Given the description of an element on the screen output the (x, y) to click on. 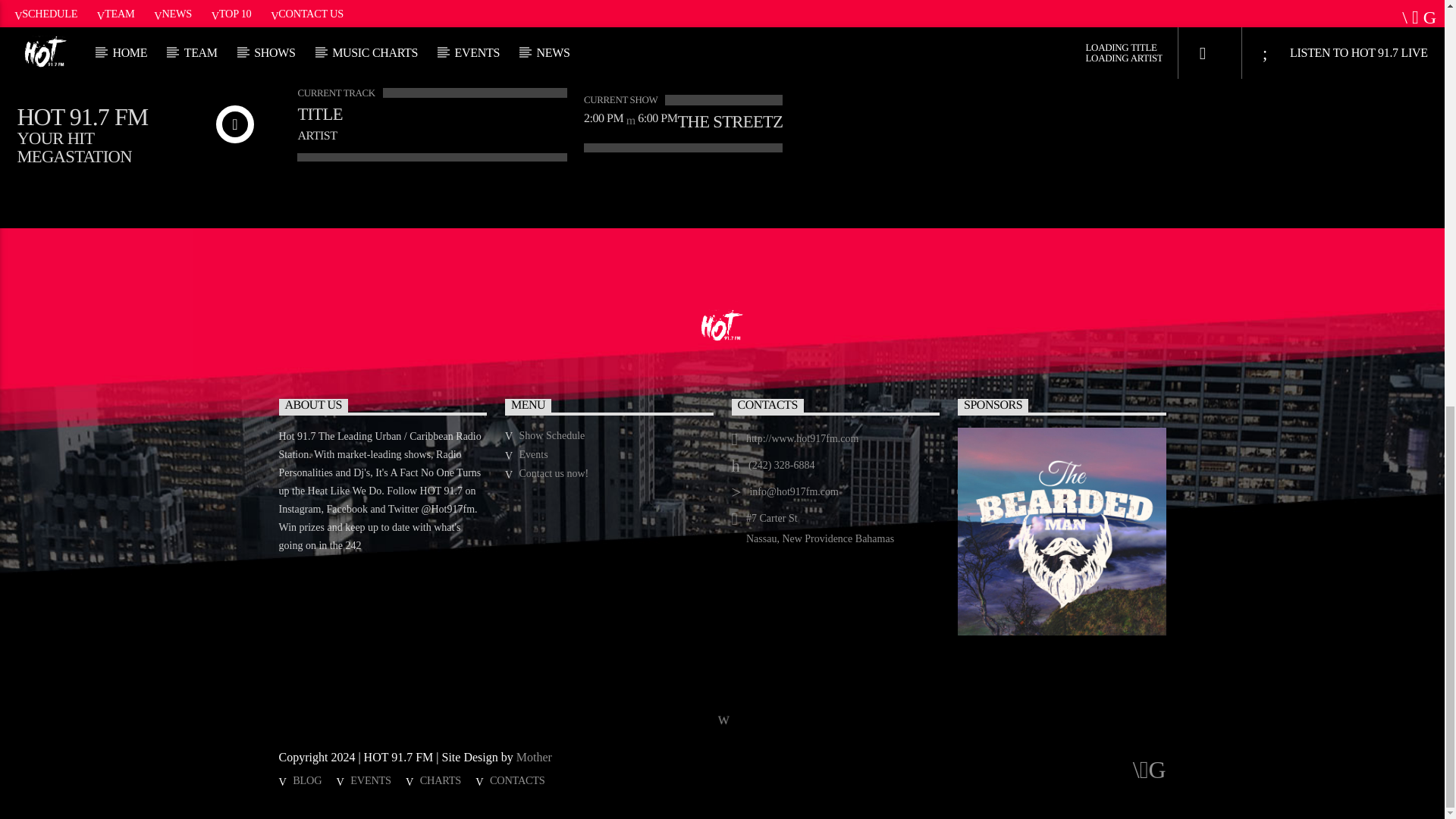
Contact us now! (554, 473)
Events (533, 454)
Show Schedule (552, 435)
Search (1054, 7)
